Given the description of an element on the screen output the (x, y) to click on. 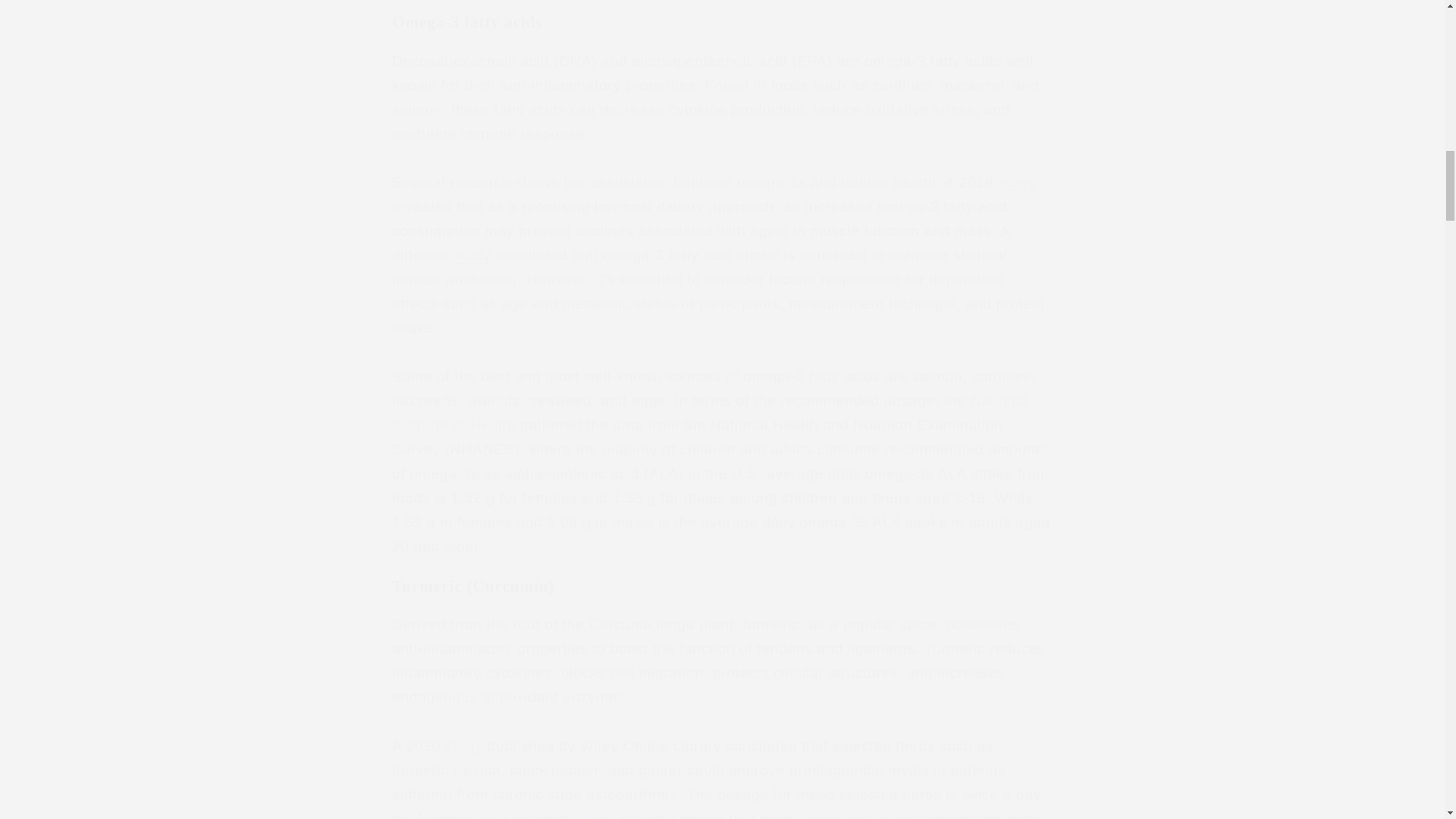
National Institute of Health (709, 413)
study (463, 745)
study (471, 254)
study (593, 814)
study (1016, 182)
